Given the description of an element on the screen output the (x, y) to click on. 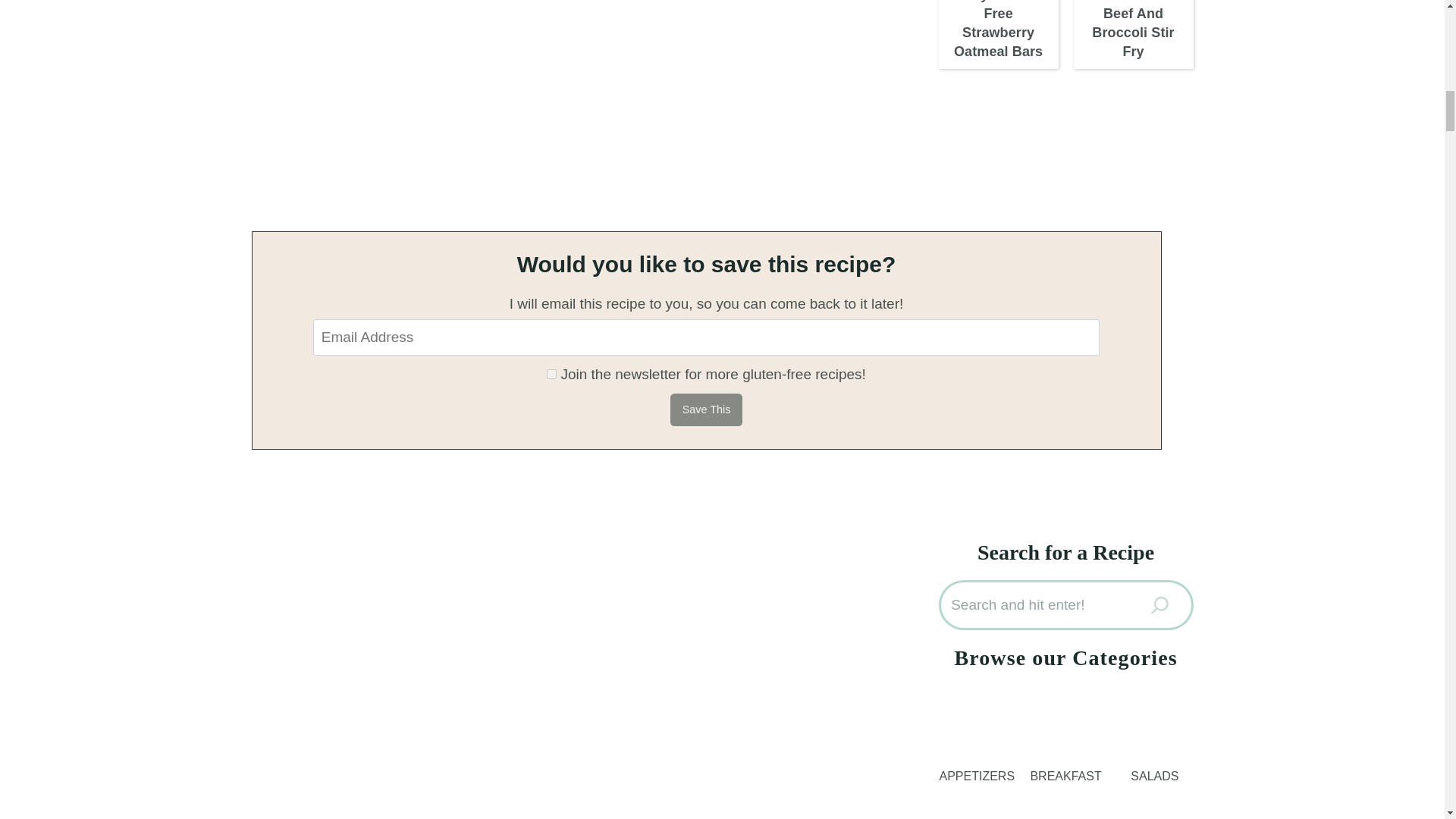
Save This (705, 409)
1 (551, 374)
Save This (705, 409)
